Given the description of an element on the screen output the (x, y) to click on. 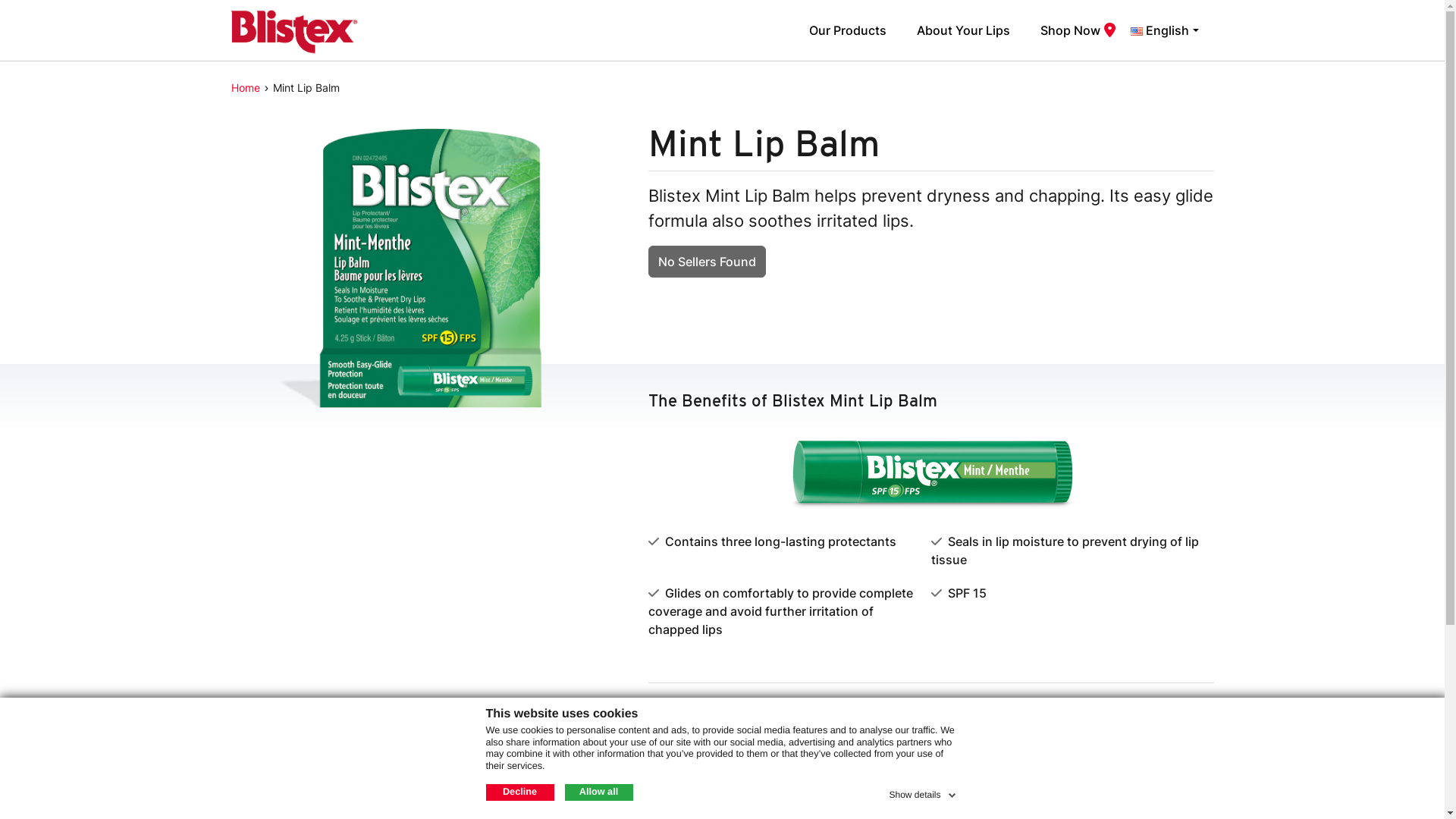
Decline Element type: text (519, 792)
Allow all Element type: text (598, 792)
About Your Lips Element type: text (963, 30)
Our Products Element type: text (847, 30)
English Element type: text (1164, 30)
Ingredients Element type: text (930, 704)
Other Product Details Element type: text (930, 747)
Shop Now Element type: text (1070, 30)
Show details Element type: text (923, 792)
Home Element type: text (244, 87)
